Given the description of an element on the screen output the (x, y) to click on. 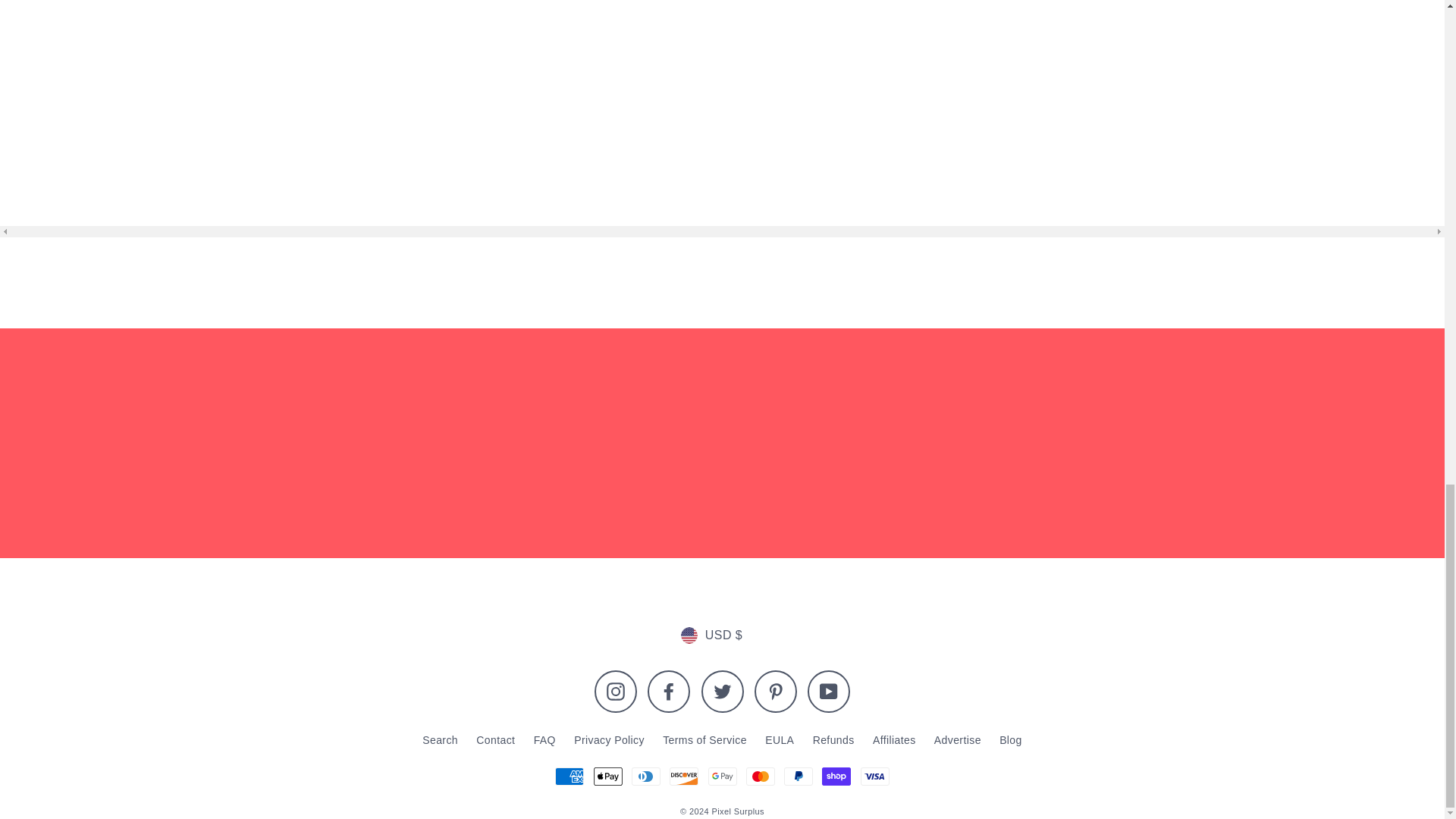
Diners Club (646, 776)
Pixel Surplus on Instagram (615, 691)
Apple Pay (608, 776)
Mastercard (759, 776)
PayPal (798, 776)
Shop Pay (836, 776)
Pixel Surplus on Pinterest (775, 691)
Google Pay (721, 776)
American Express (568, 776)
Pixel Surplus on YouTube (829, 691)
